Given the description of an element on the screen output the (x, y) to click on. 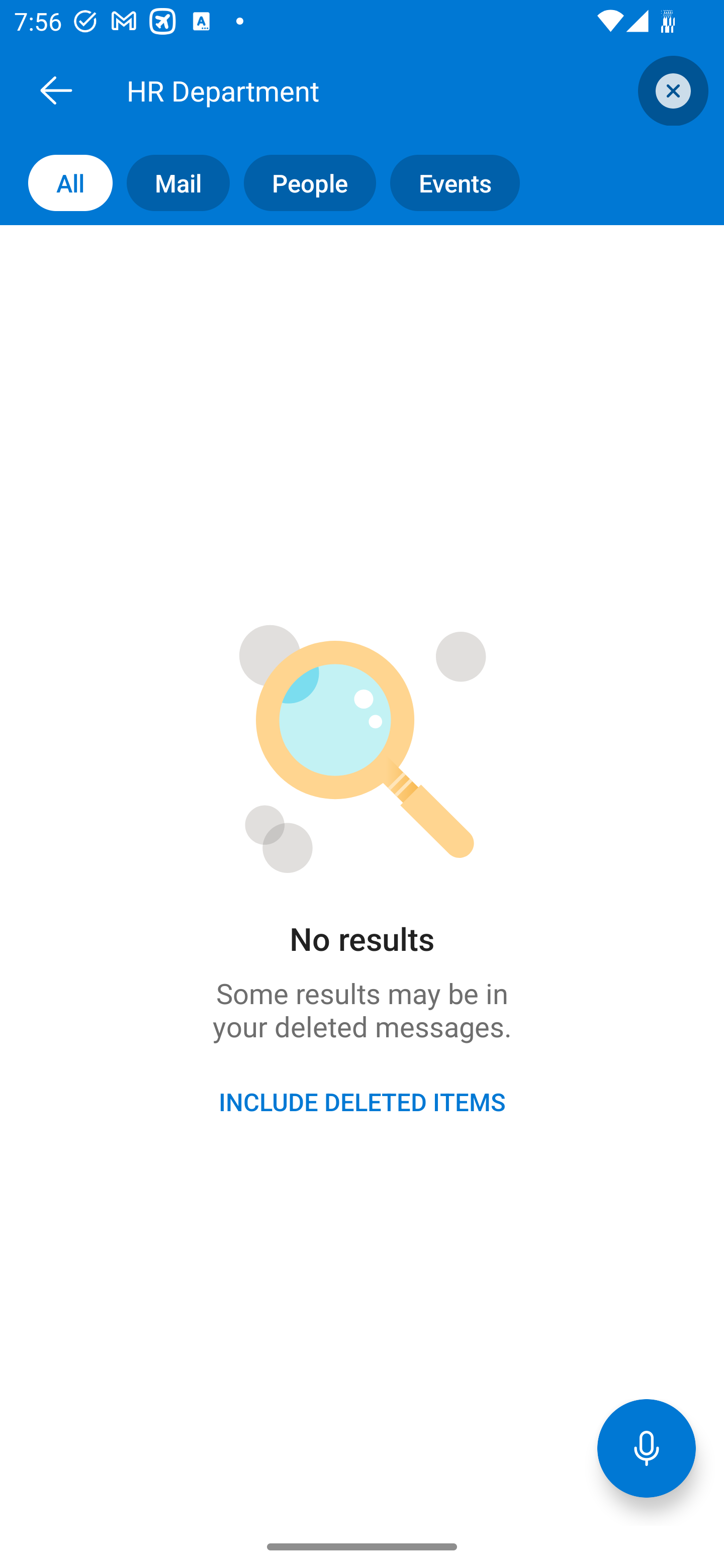
Back (55, 89)
HR Department (384, 89)
clear search (670, 90)
Mail (170, 183)
People (302, 183)
Events (447, 183)
INCLUDE DELETED ITEMS (362, 1101)
Voice Assistant (646, 1447)
